Given the description of an element on the screen output the (x, y) to click on. 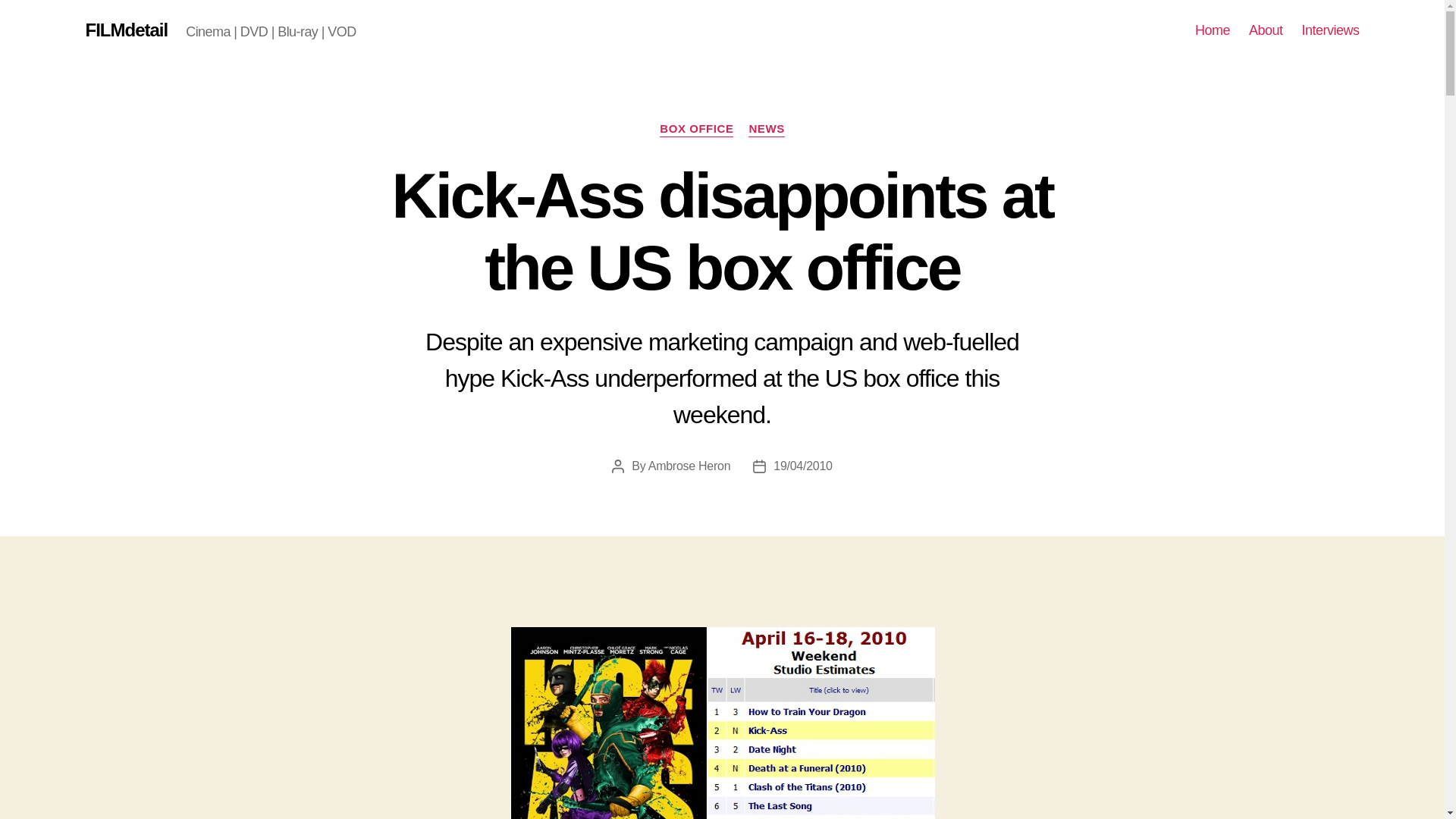
Interviews (1329, 30)
NEWS (766, 129)
Ambrose Heron (688, 465)
BOX OFFICE (696, 129)
About (1265, 30)
Kick-Ass Underperforms (721, 723)
FILMdetail (125, 30)
Home (1212, 30)
